Given the description of an element on the screen output the (x, y) to click on. 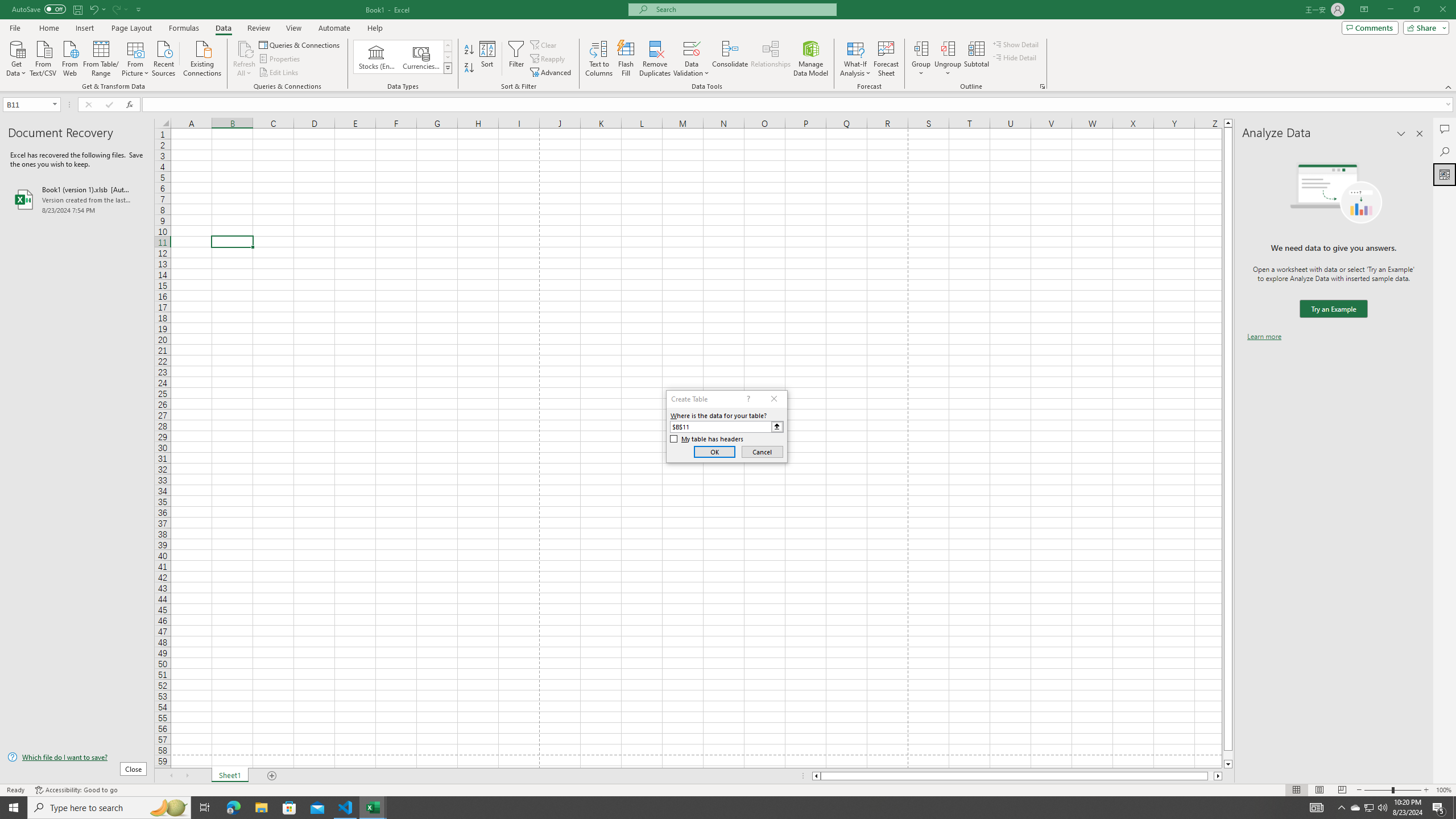
Relationships (770, 58)
